Given the description of an element on the screen output the (x, y) to click on. 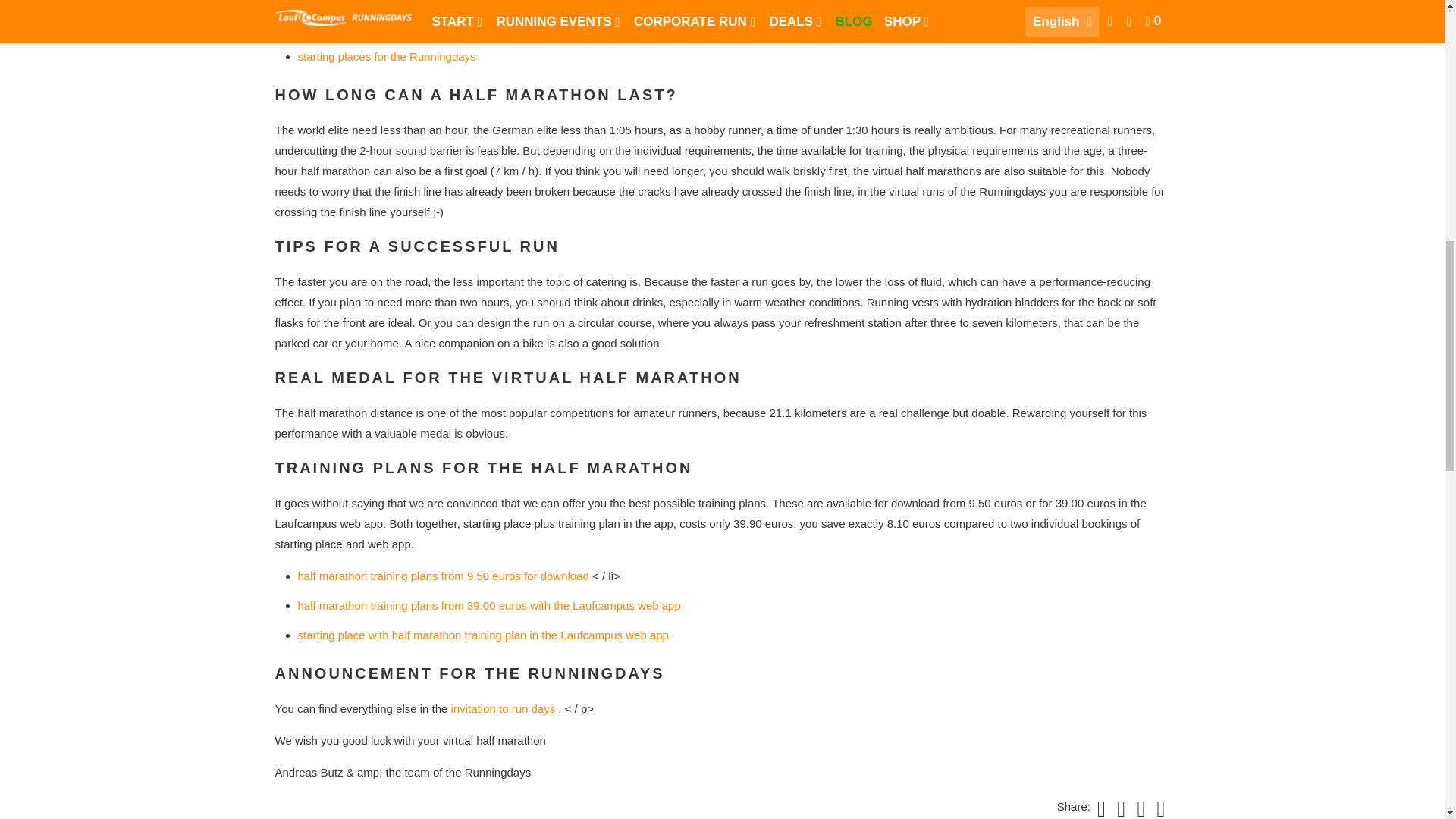
Share this on Pinterest (1138, 807)
Share this on Twitter (1099, 807)
Email this to a friend (1159, 807)
Share this on Facebook (1119, 807)
